Given the description of an element on the screen output the (x, y) to click on. 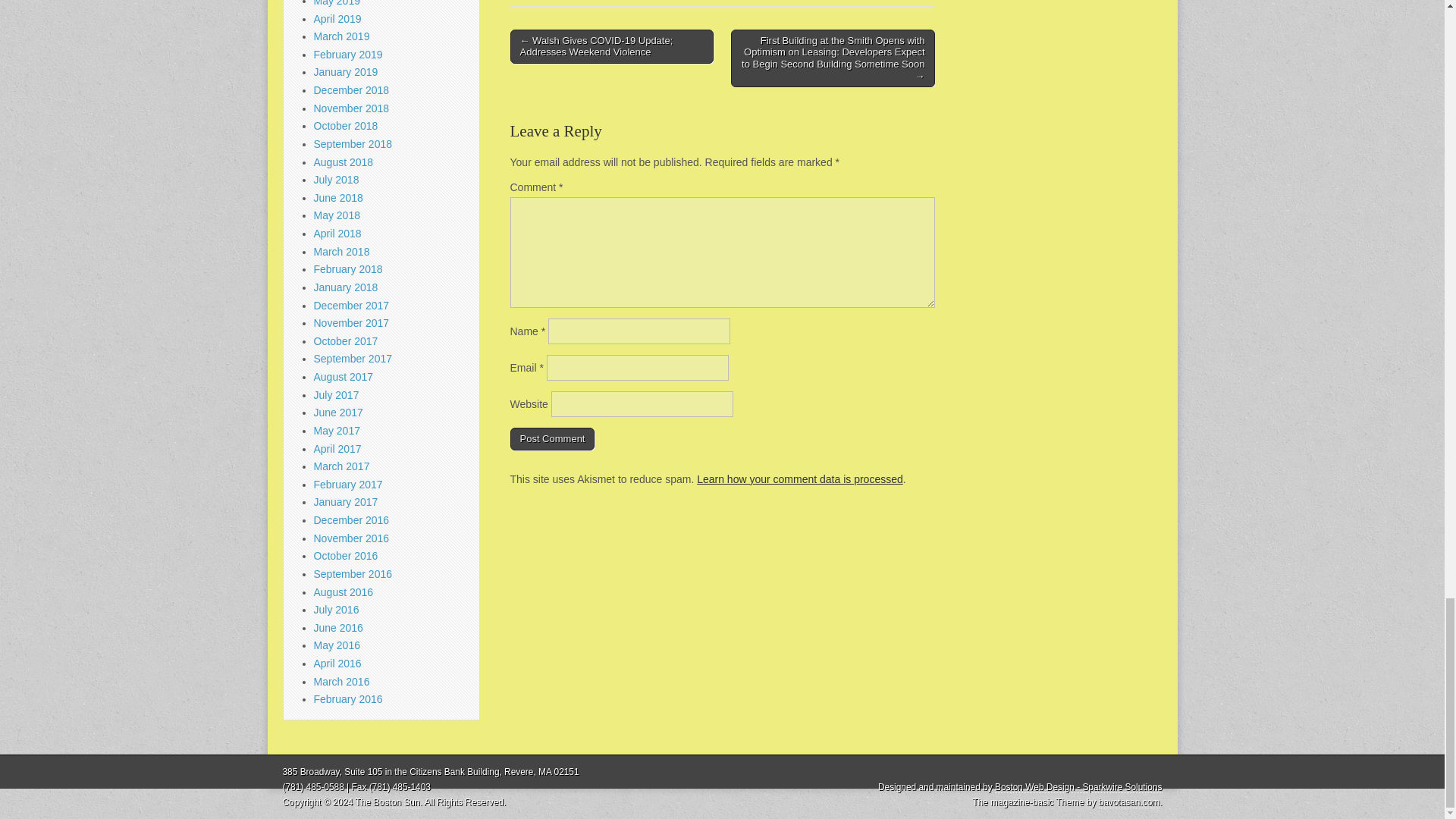
Post Comment (551, 438)
Learn how your comment data is processed (799, 479)
Post Comment (551, 438)
